Given the description of an element on the screen output the (x, y) to click on. 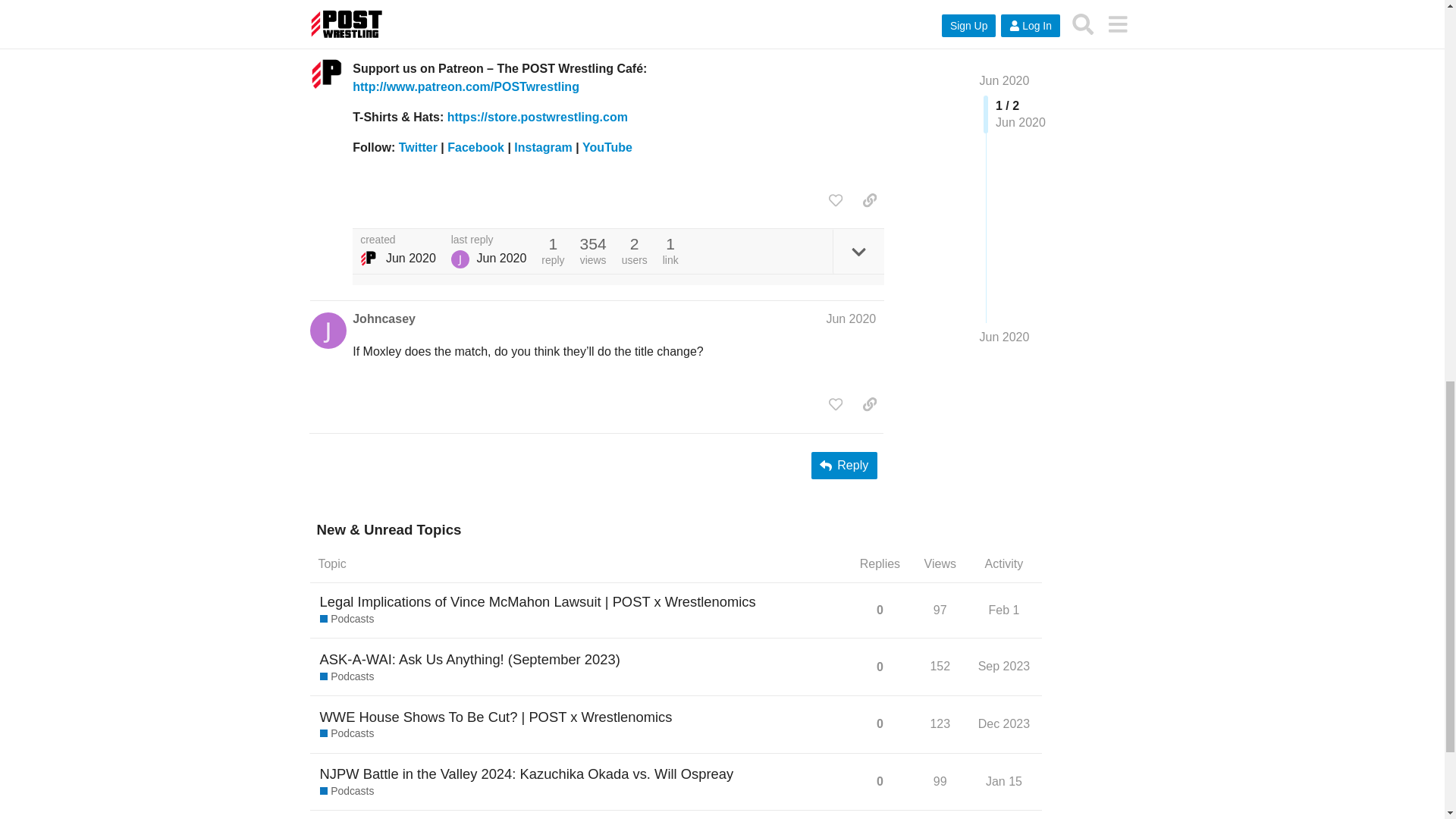
Twitter (418, 146)
Instagram (542, 146)
Facebook (474, 146)
RSS (364, 7)
John Casey (459, 259)
YouTube (606, 146)
like this post (835, 199)
expand topic details (857, 251)
Jun 25, 2020 12:42 pm (410, 257)
system (368, 259)
copy a link to this post to clipboard (869, 199)
